Given the description of an element on the screen output the (x, y) to click on. 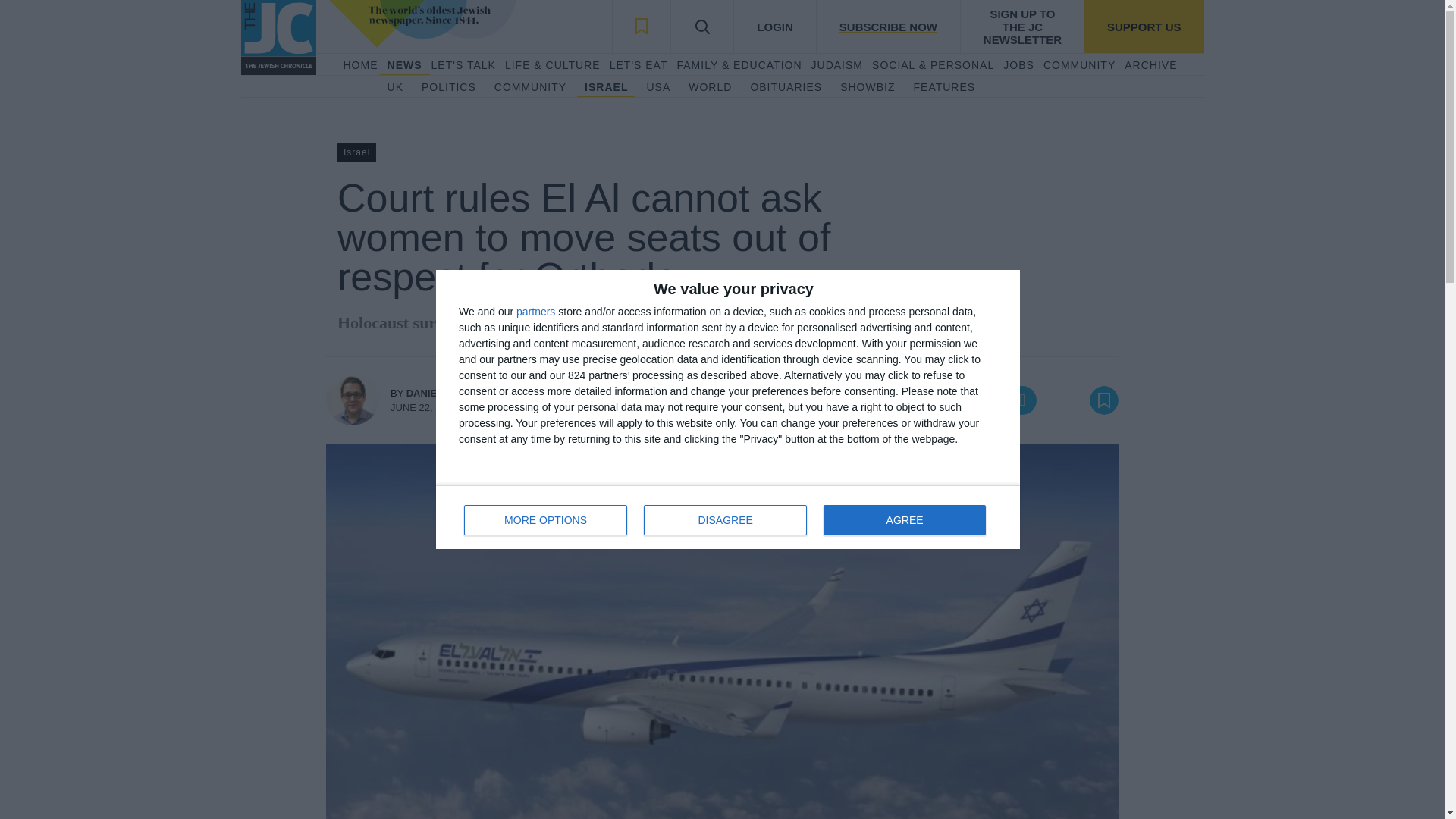
UK (395, 87)
FEATURES (944, 87)
AGREE (904, 520)
ISRAEL (606, 87)
SUPPORT US (1144, 26)
SHOWBIZ (727, 516)
COMMUNITY (867, 87)
HOME (530, 87)
SUBSCRIBE NOW (359, 65)
